Given the description of an element on the screen output the (x, y) to click on. 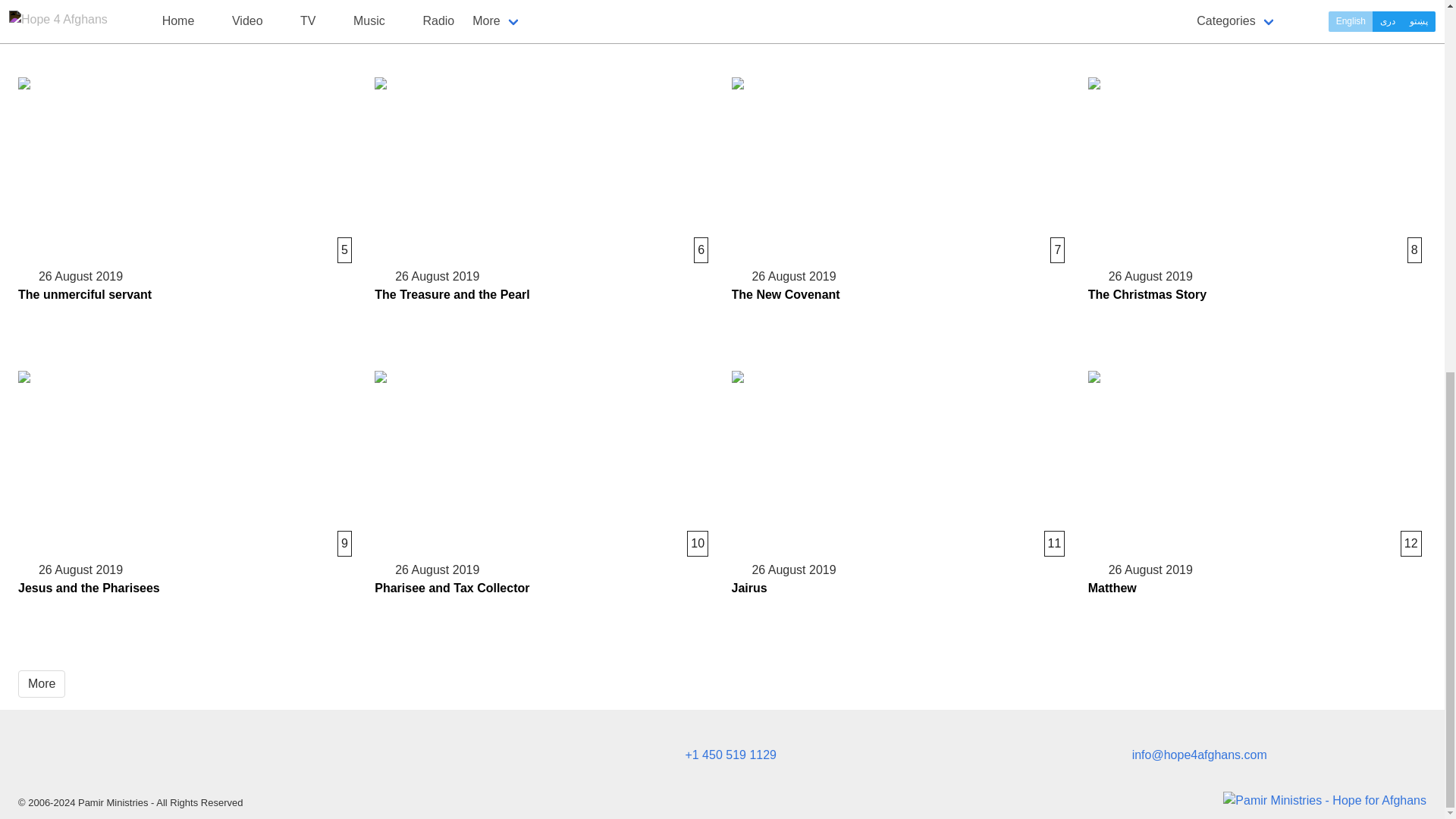
Facebook (186, 29)
Instagram (177, 759)
Vimeo (232, 759)
TikTok (260, 759)
Feed - The Stories of Jesus (288, 759)
YouTube (315, 759)
